Given the description of an element on the screen output the (x, y) to click on. 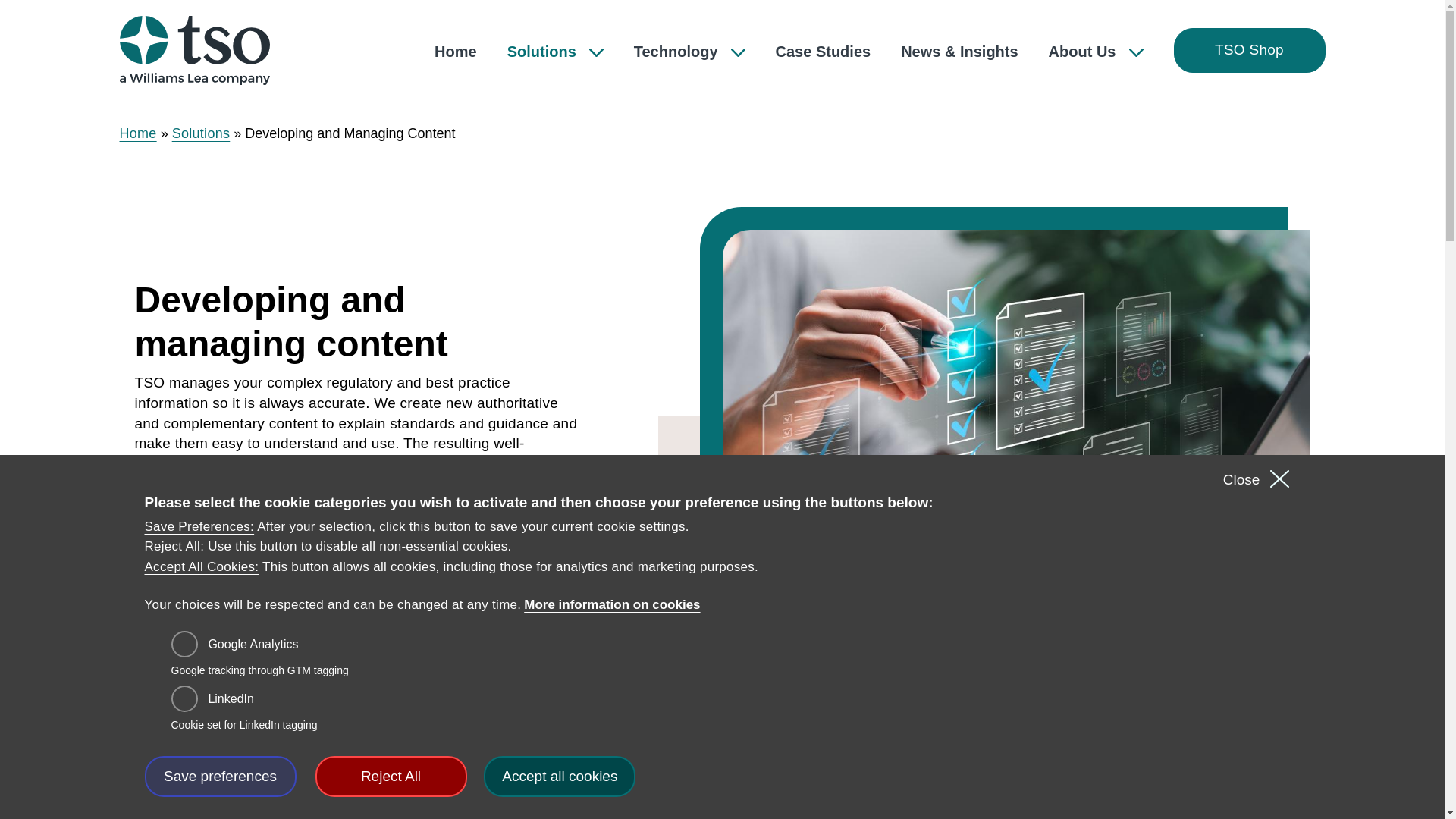
Save preferences (219, 775)
Solutions (555, 51)
More information on cookies (612, 605)
Withdraw consent (739, 768)
Accept all cookies (558, 775)
Case Studies (823, 51)
Home (138, 133)
Solutions (200, 133)
About Us (1095, 51)
Technology (689, 51)
Reject All (391, 775)
TSO Shop (1248, 49)
Close (1241, 479)
linkedin (184, 698)
